Given the description of an element on the screen output the (x, y) to click on. 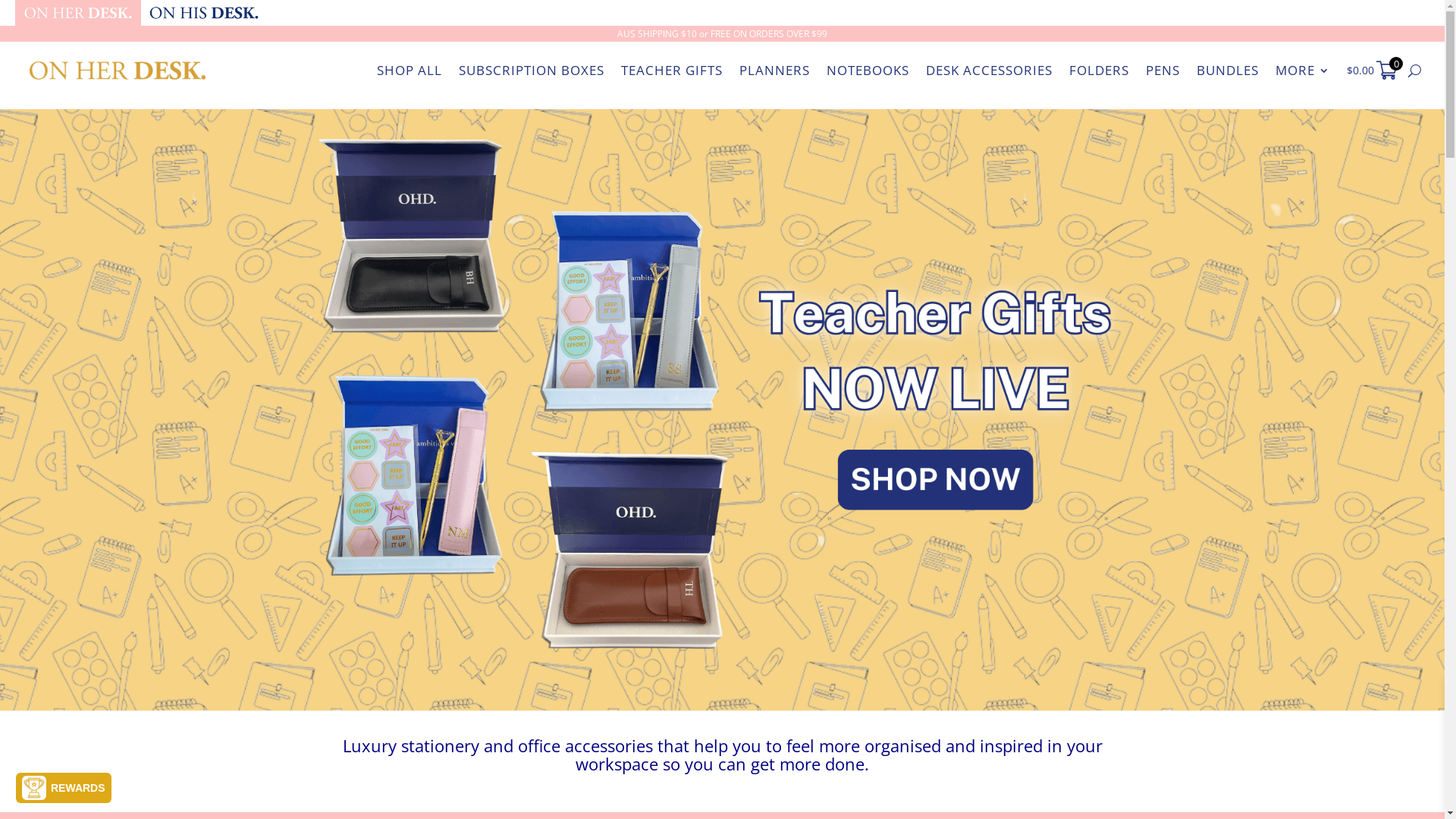
FOLDERS Element type: text (1099, 70)
NOTEBOOKS Element type: text (867, 70)
MORE Element type: text (1302, 70)
SUBSCRIPTION BOXES Element type: text (531, 70)
PLANNERS Element type: text (774, 70)
BUNDLES Element type: text (1227, 70)
SHOP ALL Element type: text (409, 70)
PENS Element type: text (1162, 70)
DESK ACCESSORIES Element type: text (988, 70)
TEACHER GIFTS Element type: text (671, 70)
